Given the description of an element on the screen output the (x, y) to click on. 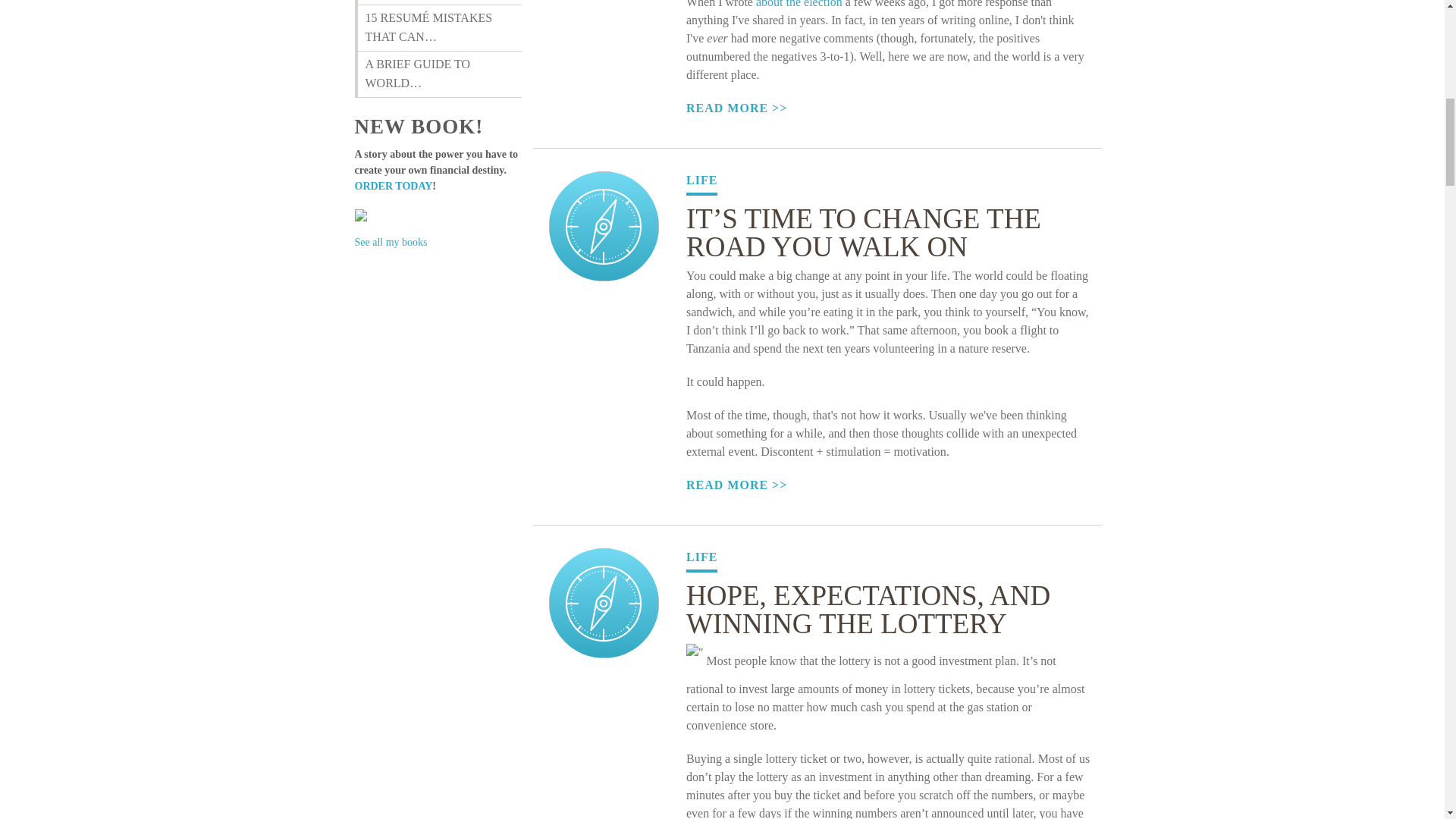
READ MORE (887, 108)
READ MORE (887, 484)
Hope, Expectations, and Winning the Lottery (867, 609)
LIFE (701, 183)
LIFE (701, 559)
Hope, Expectations, and Winning the Lottery (603, 611)
about the election (799, 4)
